Given the description of an element on the screen output the (x, y) to click on. 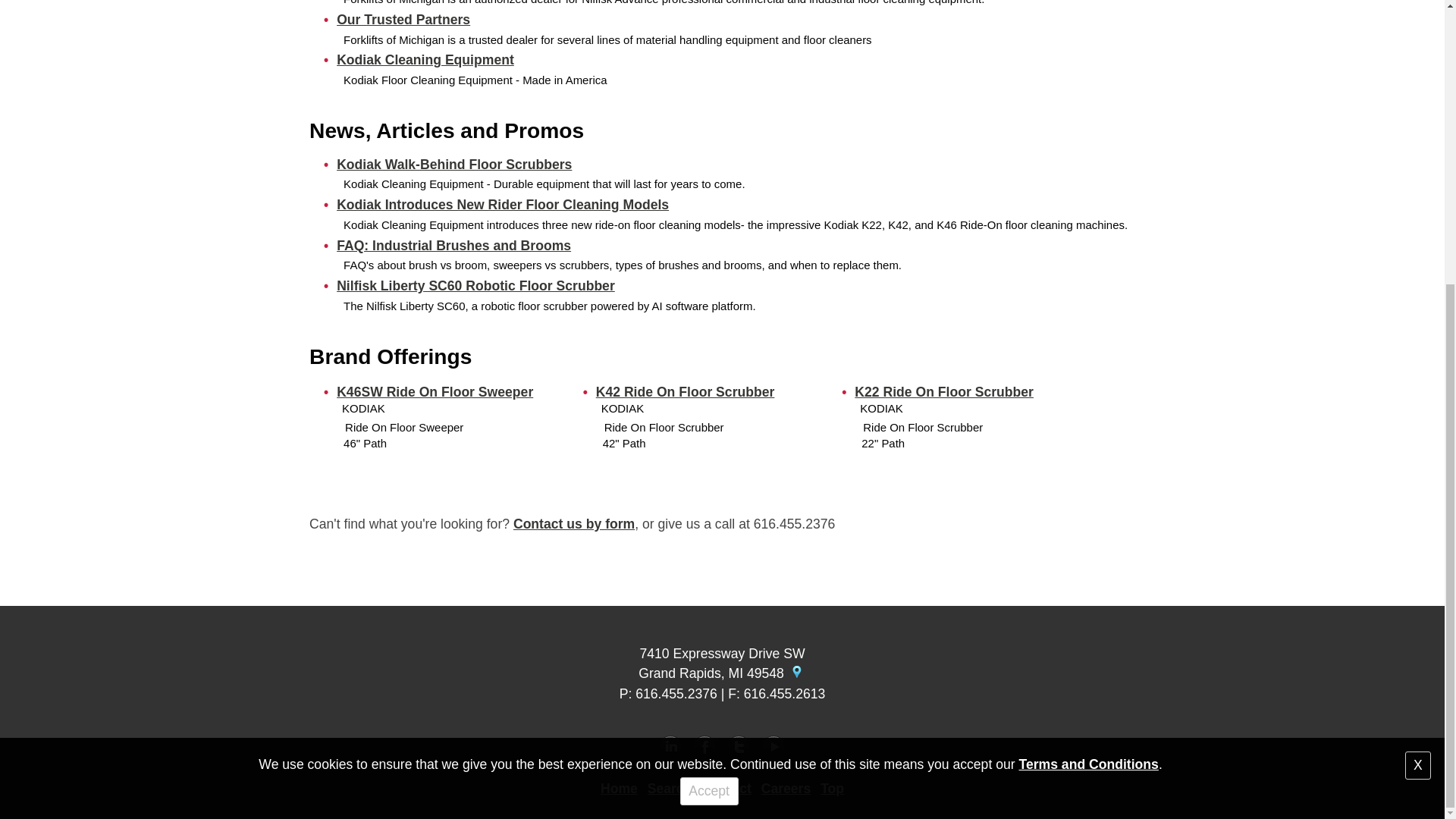
FAQ: Industrial Brushes and Brooms (453, 245)
K22 Ride On Floor Scrubber (943, 391)
Our Trusted Partners (403, 19)
Kodiak Walk-Behind Floor Scrubbers (454, 164)
Kodiak Introduces New Rider Floor Cleaning Models (502, 204)
Terms and Conditions (1087, 337)
Home (618, 788)
Careers (785, 788)
Search (670, 788)
Contact us by form (573, 523)
